Given the description of an element on the screen output the (x, y) to click on. 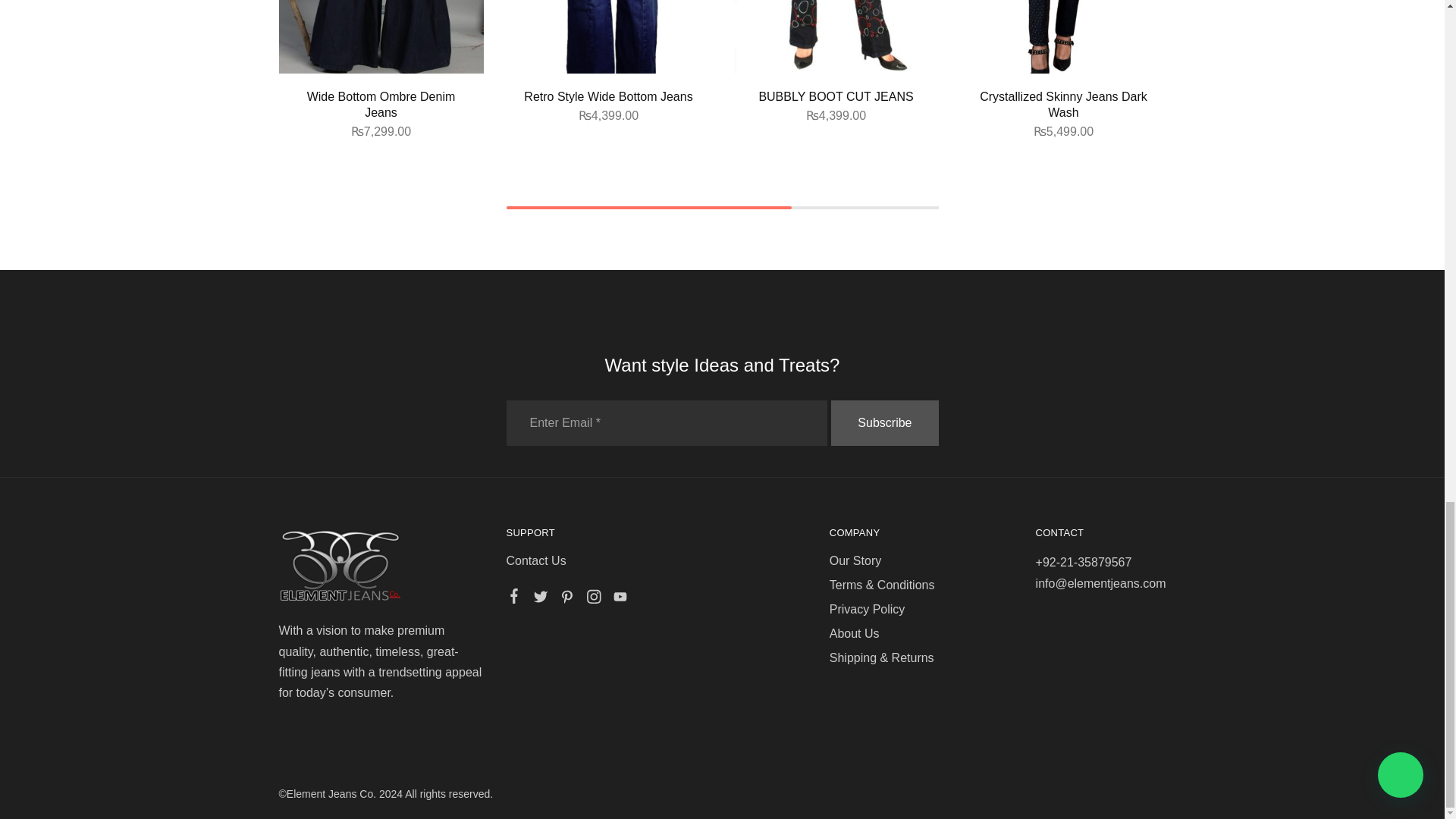
Instagram (593, 599)
Pinterest (566, 599)
Subscribe (884, 422)
Twitter (540, 599)
Youtube (620, 599)
Facebook (513, 598)
